Given the description of an element on the screen output the (x, y) to click on. 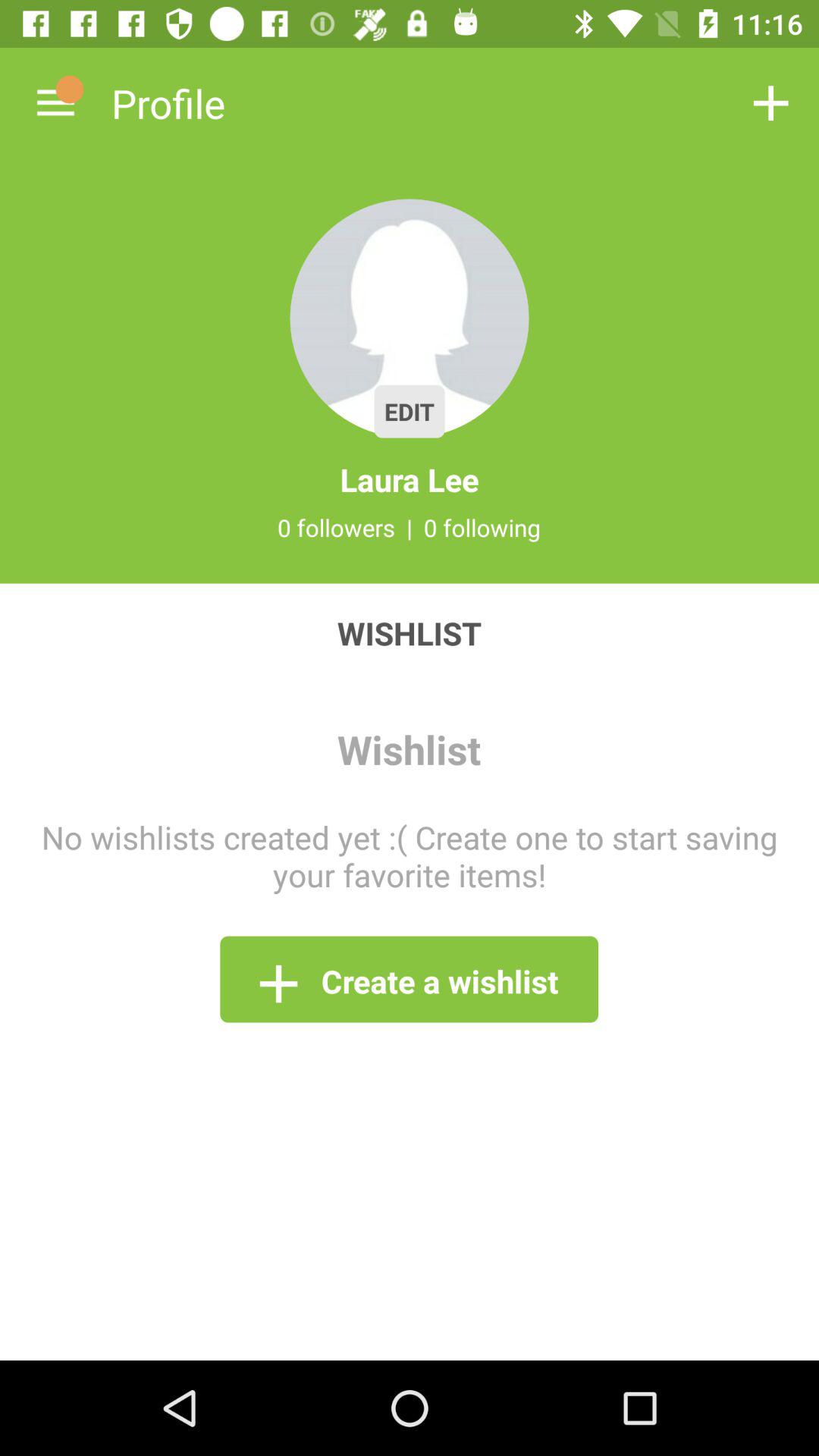
press the icon next to profile (55, 103)
